Given the description of an element on the screen output the (x, y) to click on. 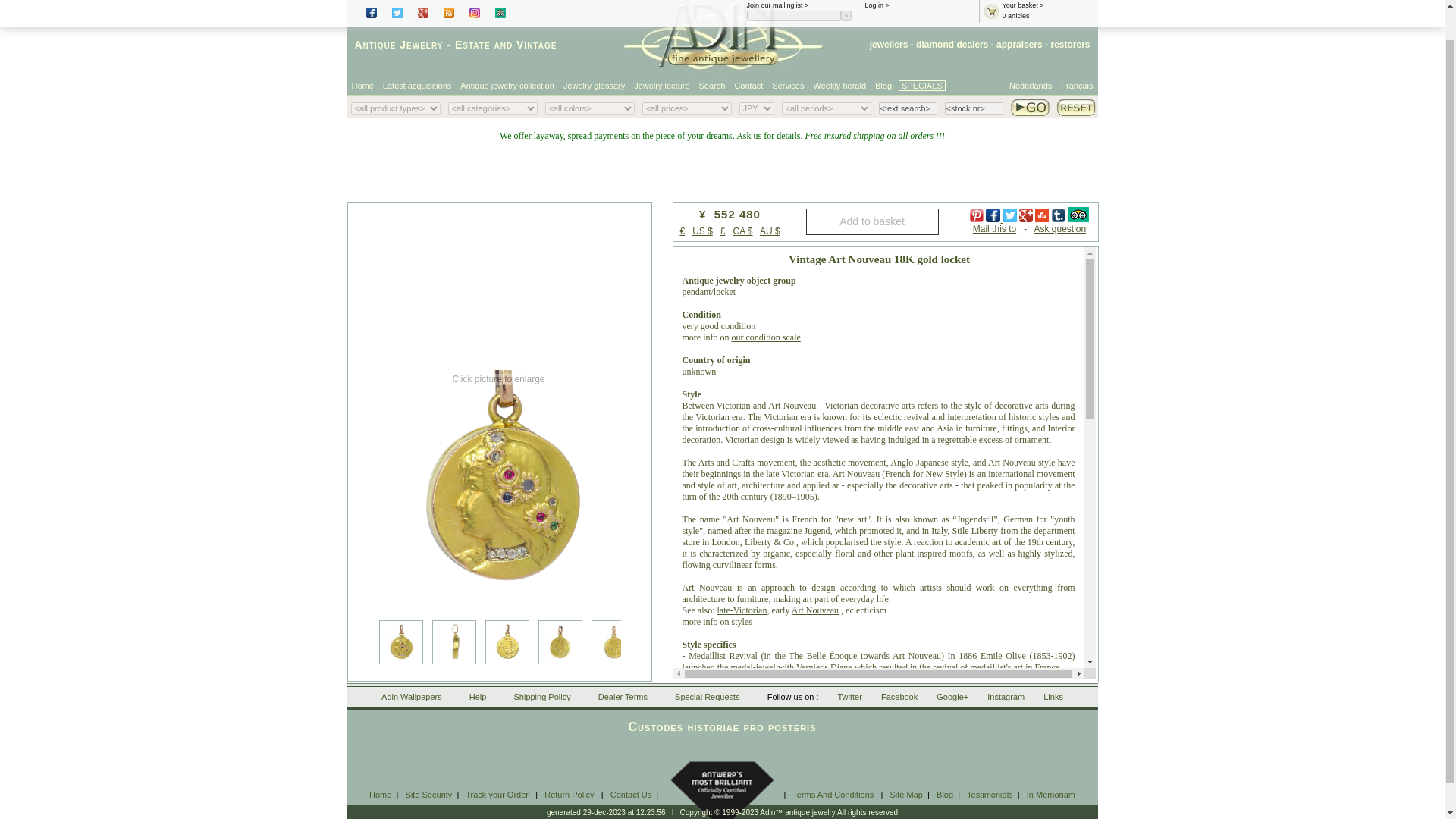
Contact (748, 85)
Estate (472, 44)
Services (788, 85)
Home (362, 85)
Antique jewelry collection (507, 85)
restorers (1069, 44)
Latest acquisitions (417, 85)
Weekly herald (839, 85)
Antique Jewelry (399, 44)
jewellers (888, 44)
Nederlands (1030, 85)
Add to basket (871, 221)
SPECIALS (921, 85)
appraisers (1018, 44)
Search (712, 85)
